Given the description of an element on the screen output the (x, y) to click on. 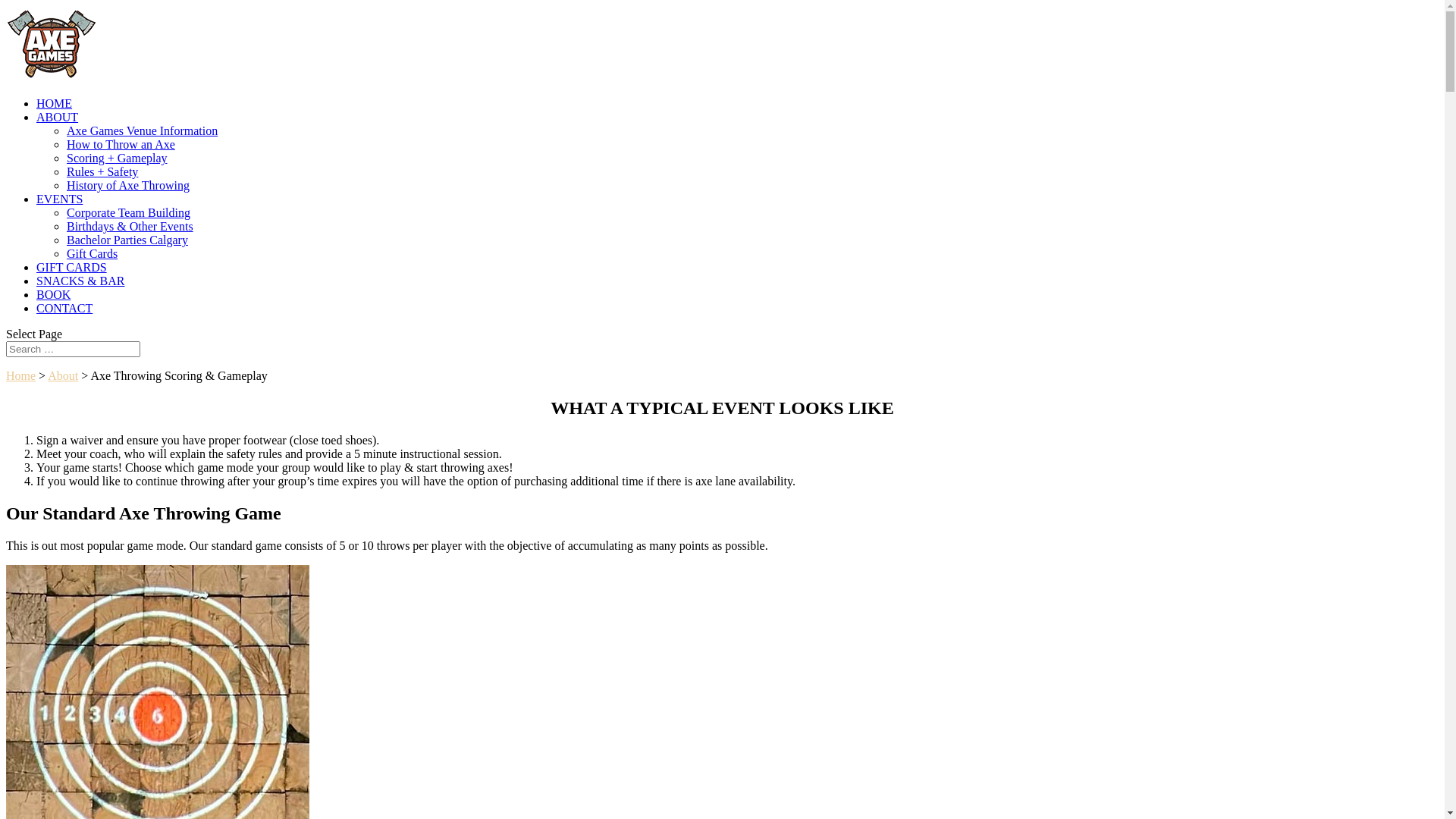
How to Throw an Axe Element type: text (120, 144)
GIFT CARDS Element type: text (71, 266)
Search for: Element type: hover (73, 349)
Bachelor Parties Calgary Element type: text (127, 239)
CONTACT Element type: text (64, 307)
About Element type: text (62, 375)
Home Element type: text (20, 375)
Birthdays & Other Events Element type: text (129, 225)
SNACKS & BAR Element type: text (80, 280)
EVENTS Element type: text (59, 198)
HOME Element type: text (54, 103)
BOOK Element type: text (53, 294)
Rules + Safety Element type: text (102, 171)
Axe Games Venue Information Element type: text (141, 130)
History of Axe Throwing Element type: text (127, 184)
Gift Cards Element type: text (91, 253)
ABOUT Element type: text (57, 116)
Corporate Team Building Element type: text (128, 212)
Scoring + Gameplay Element type: text (116, 157)
